Given the description of an element on the screen output the (x, y) to click on. 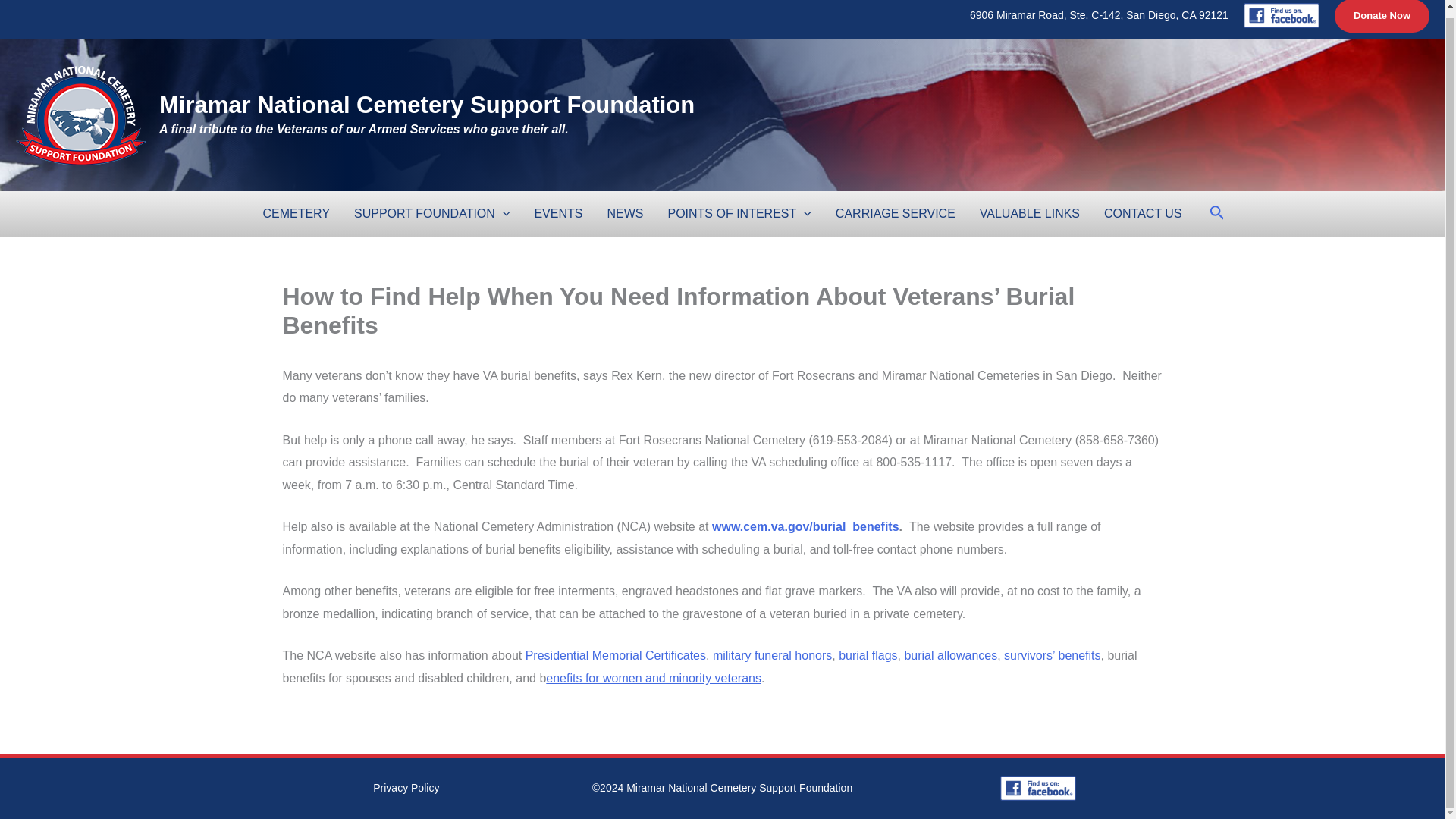
VALUABLE LINKS (1030, 213)
EVENTS (557, 213)
CEMETERY (296, 213)
Miramar National Cemetery Support Foundation (426, 104)
NEWS (624, 213)
POINTS OF INTEREST (738, 213)
CARRIAGE SERVICE (896, 213)
SUPPORT FOUNDATION (431, 213)
Donate Now (1382, 16)
CONTACT US (1142, 213)
